Given the description of an element on the screen output the (x, y) to click on. 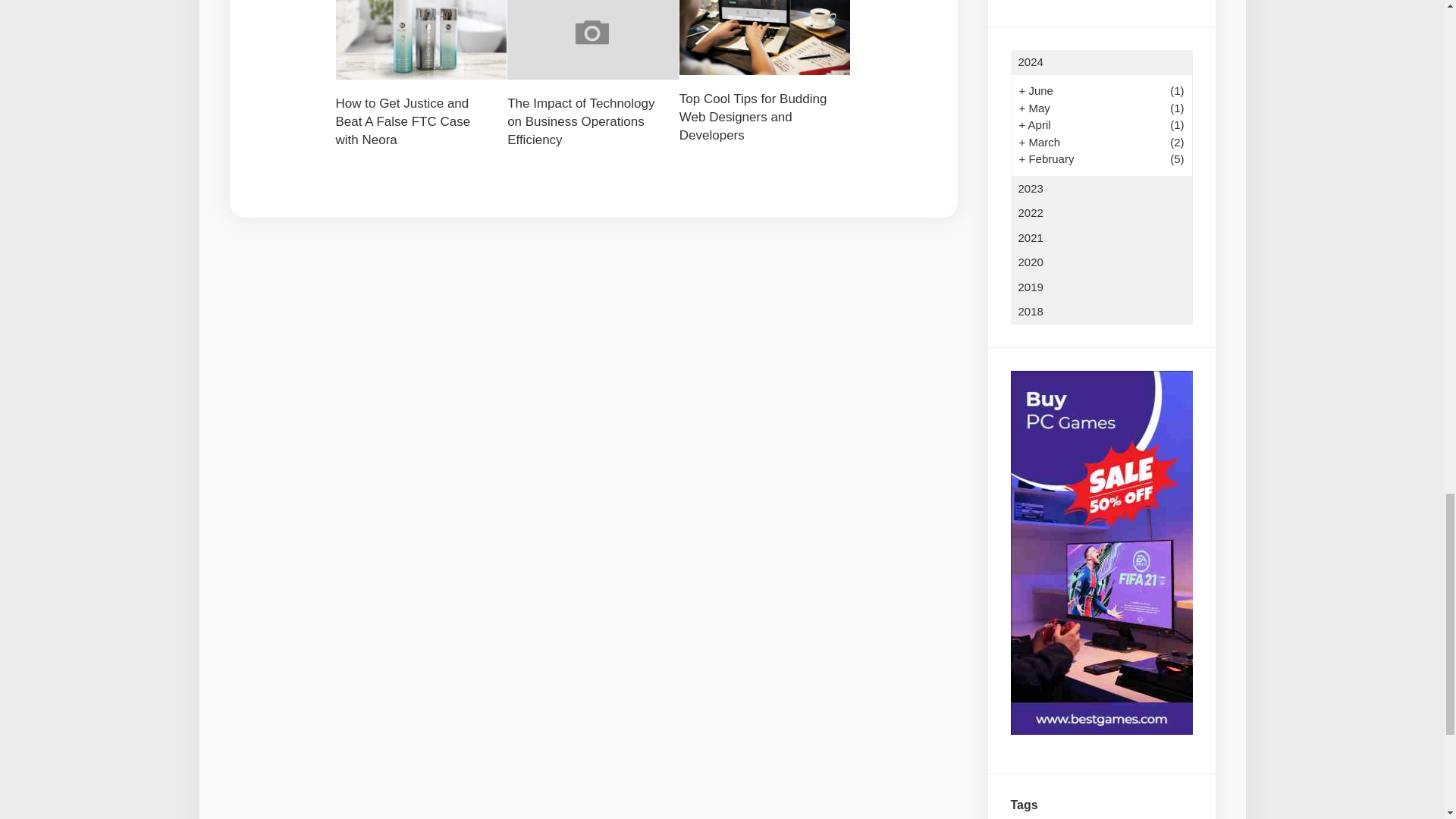
Top Cool Tips for Budding Web Designers and Developers (753, 116)
How to Get Justice and Beat A False FTC Case with Neora (402, 121)
The Impact of Technology on Business Operations Efficiency (579, 121)
